Given the description of an element on the screen output the (x, y) to click on. 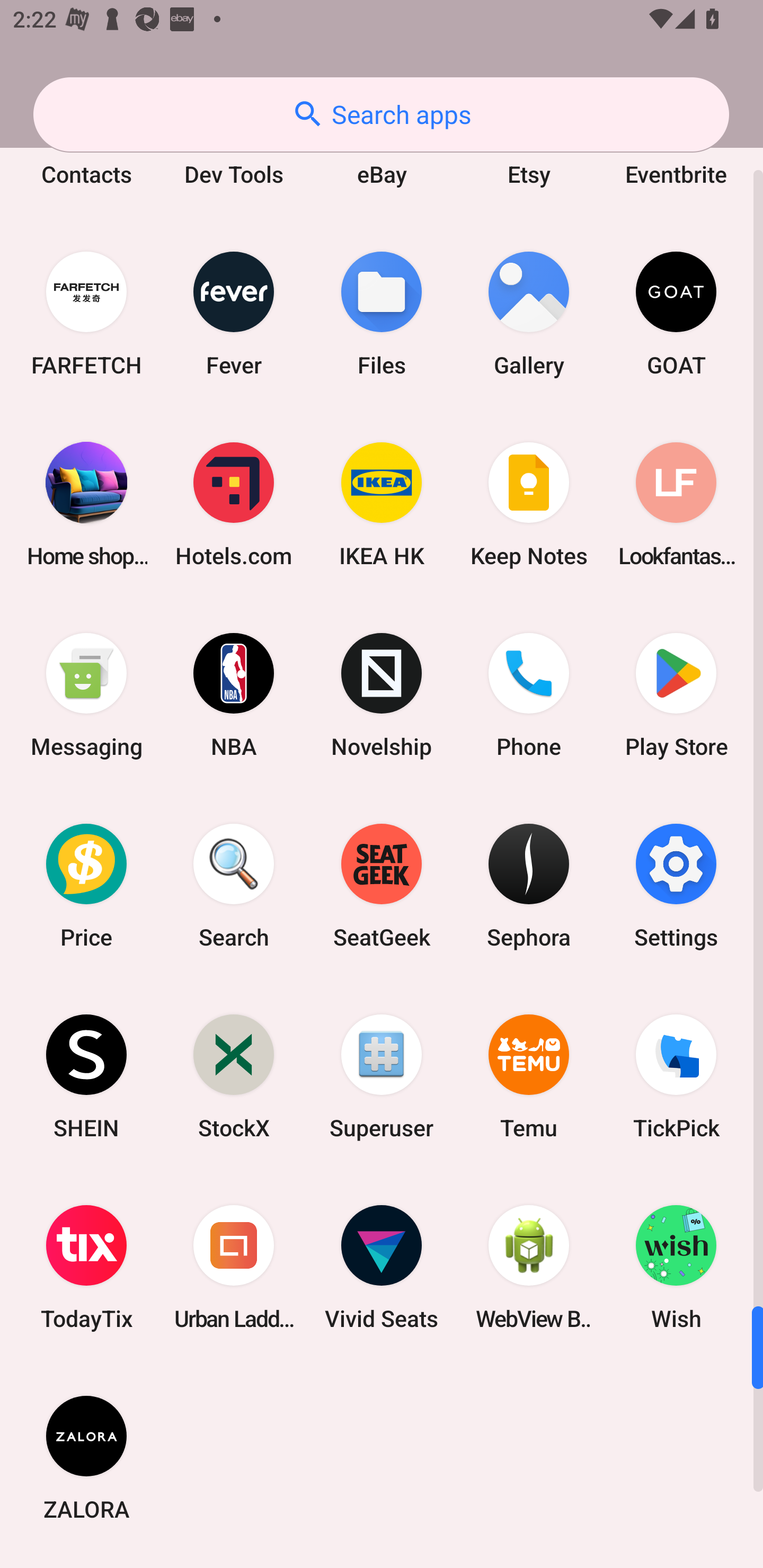
  Search apps (381, 114)
FARFETCH (86, 313)
Fever (233, 313)
Files (381, 313)
Gallery (528, 313)
GOAT (676, 313)
Home shopping (86, 503)
Hotels.com (233, 503)
IKEA HK (381, 503)
Keep Notes (528, 503)
Lookfantastic (676, 503)
Messaging (86, 694)
NBA (233, 694)
Novelship (381, 694)
Phone (528, 694)
Play Store (676, 694)
Price (86, 885)
Search (233, 885)
SeatGeek (381, 885)
Sephora (528, 885)
Settings (676, 885)
SHEIN (86, 1076)
StockX (233, 1076)
Superuser (381, 1076)
Temu (528, 1076)
TickPick (676, 1076)
TodayTix (86, 1266)
Urban Ladder (233, 1266)
Vivid Seats (381, 1266)
WebView Browser Tester (528, 1266)
Wish (676, 1266)
ZALORA (86, 1457)
